Given the description of an element on the screen output the (x, y) to click on. 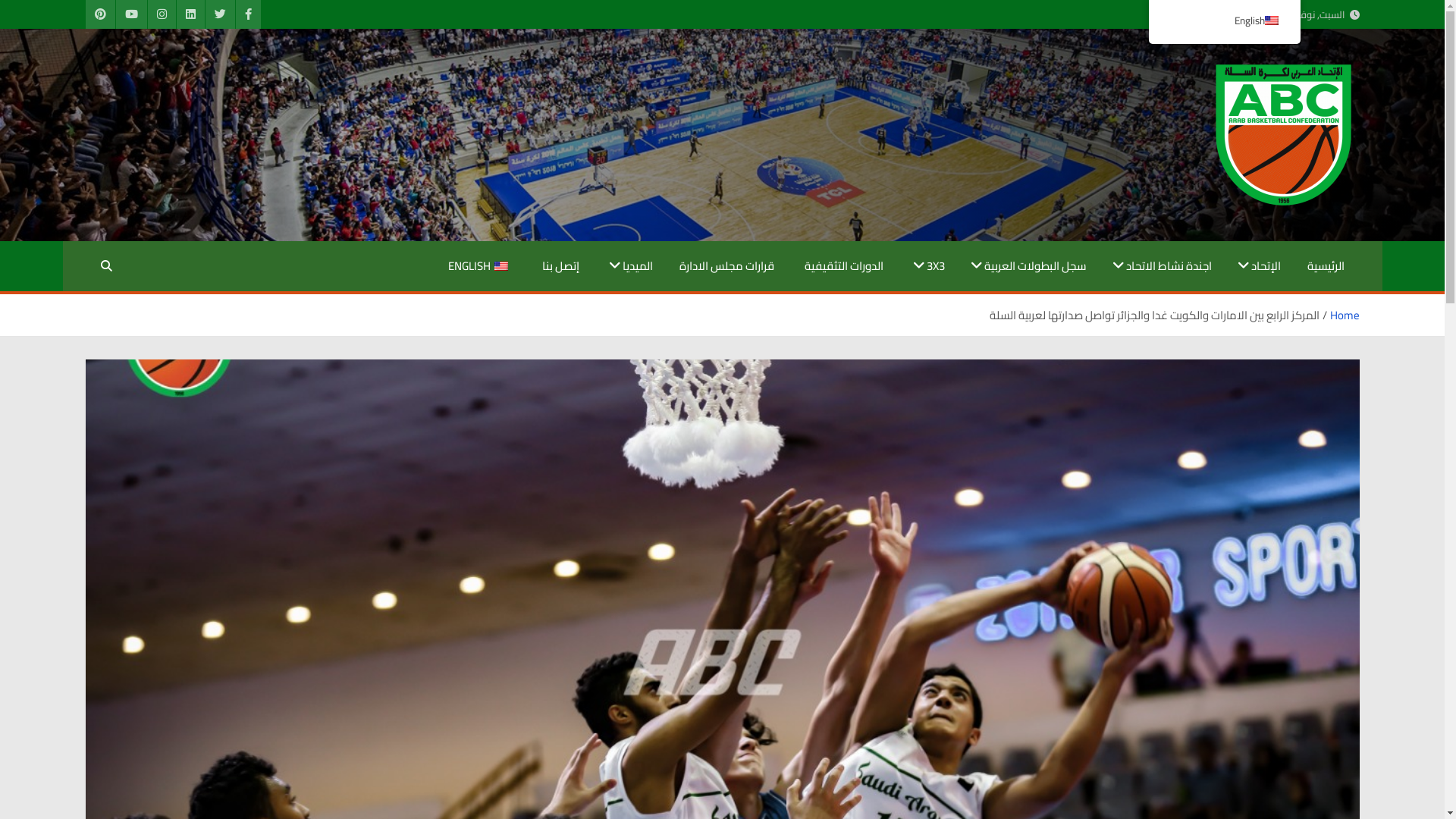
3X3 Element type: text (926, 266)
English Element type: hover (501, 265)
ENGLISH Element type: text (479, 266)
English Element type: text (1223, 21)
English Element type: text (1223, 20)
ARAB BASKETBALL CONFEDERATION Element type: text (1258, 219)
English Element type: hover (1271, 20)
Home Element type: text (1344, 315)
